Given the description of an element on the screen output the (x, y) to click on. 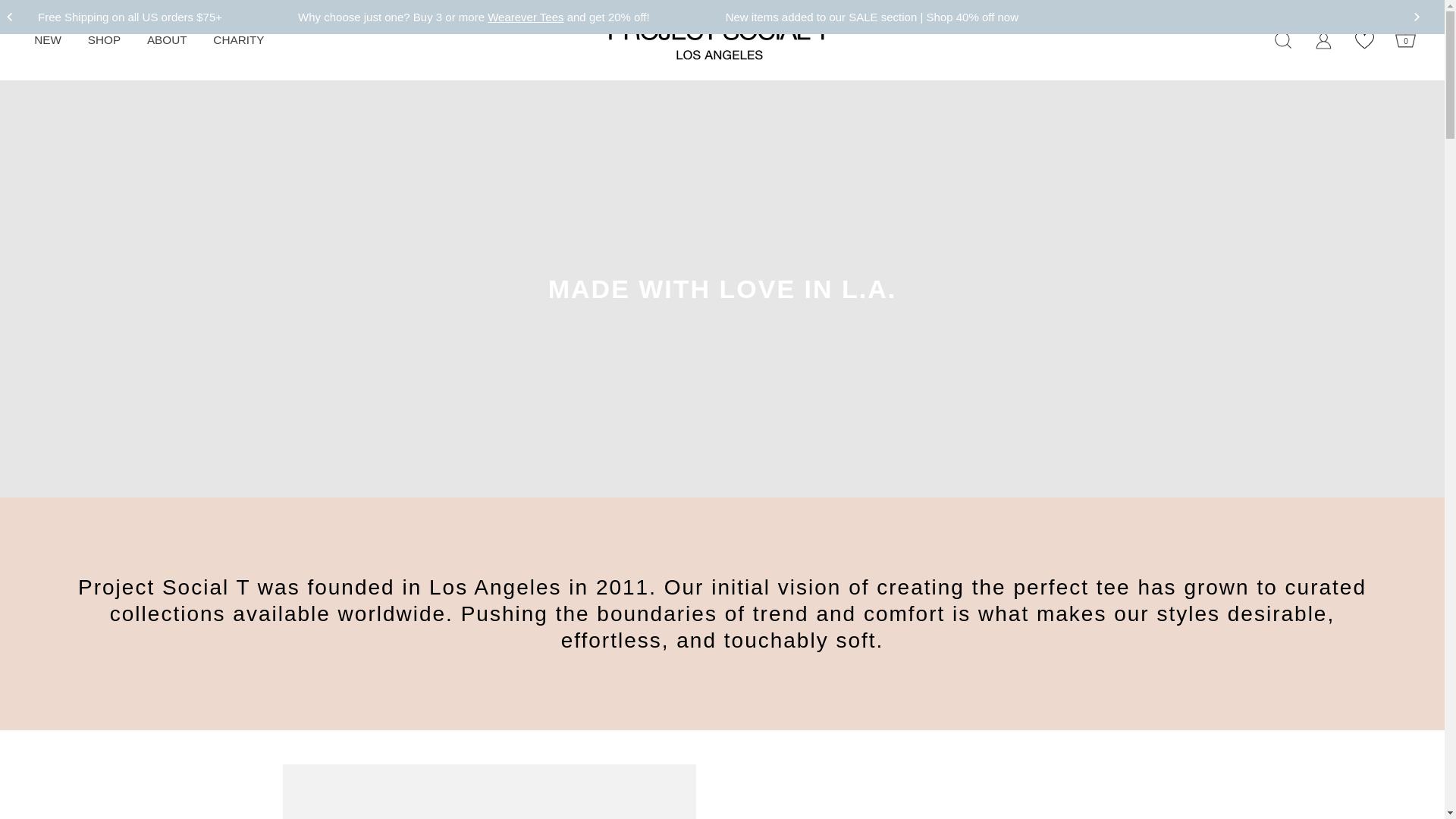
NEW (47, 39)
Wearever Tees (525, 16)
CHARITY (239, 39)
ABOUT (166, 39)
SHOP (103, 39)
